Given the description of an element on the screen output the (x, y) to click on. 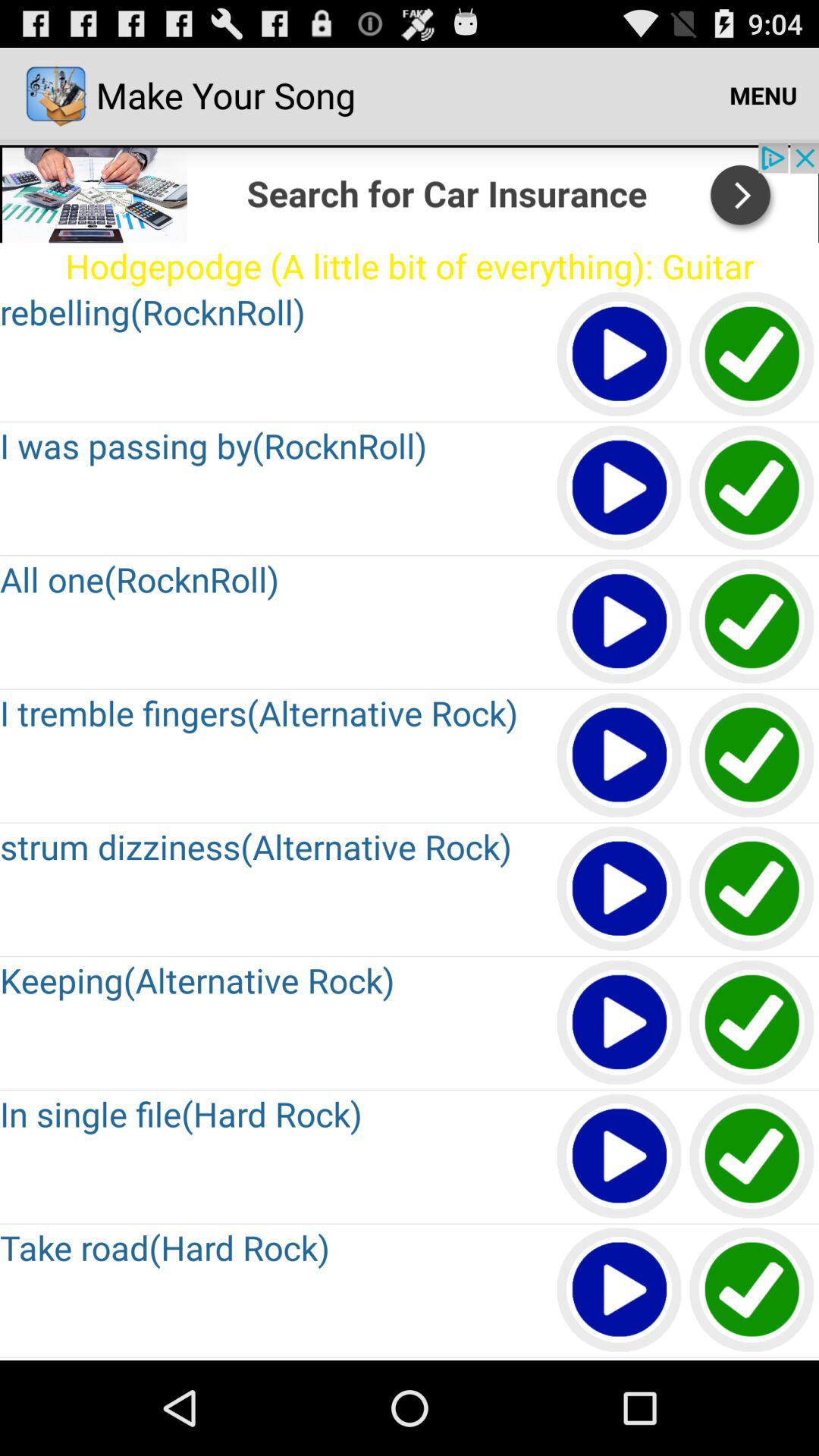
check song (752, 755)
